Given the description of an element on the screen output the (x, y) to click on. 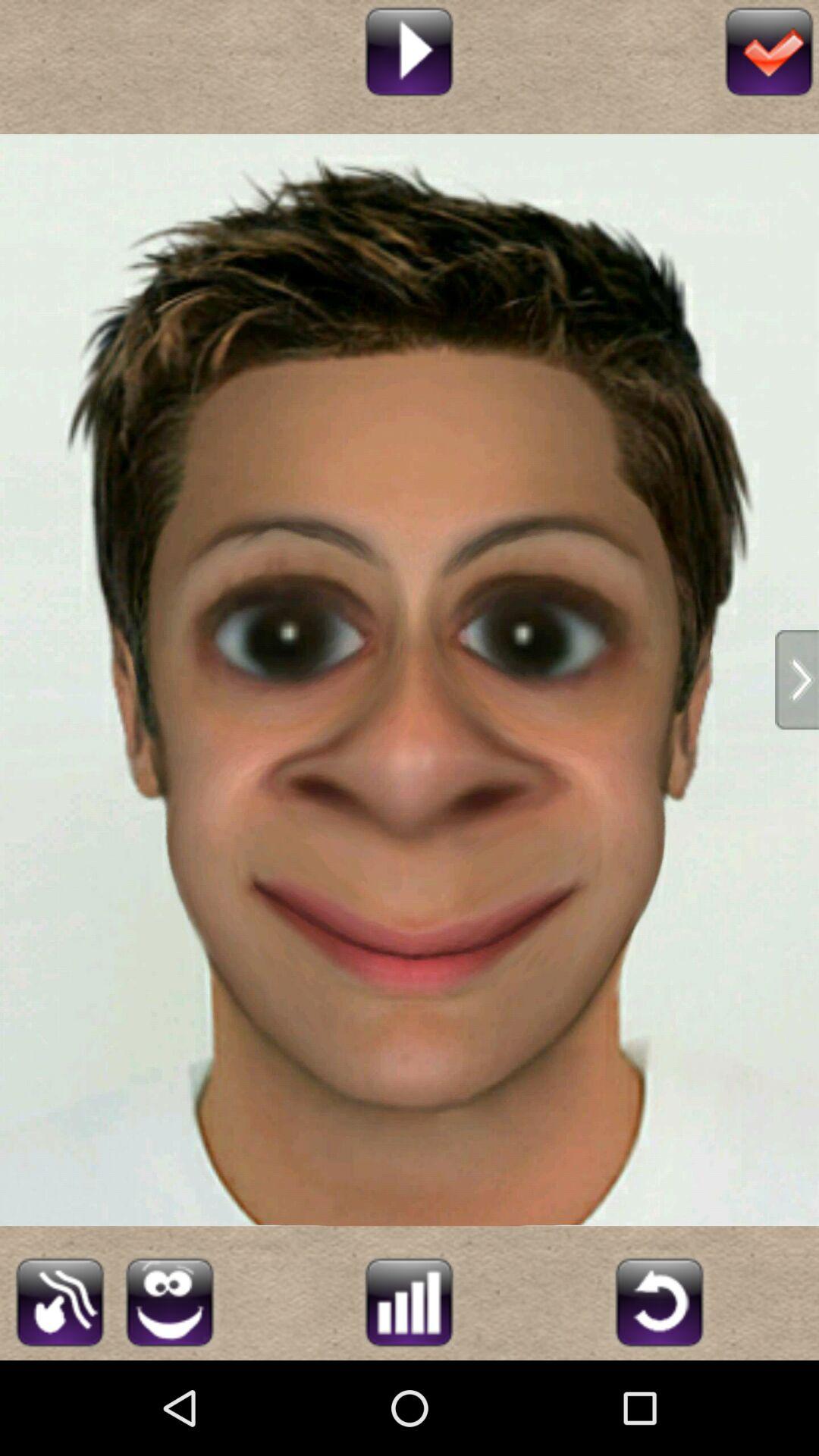
turn off the item on the right (797, 679)
